Given the description of an element on the screen output the (x, y) to click on. 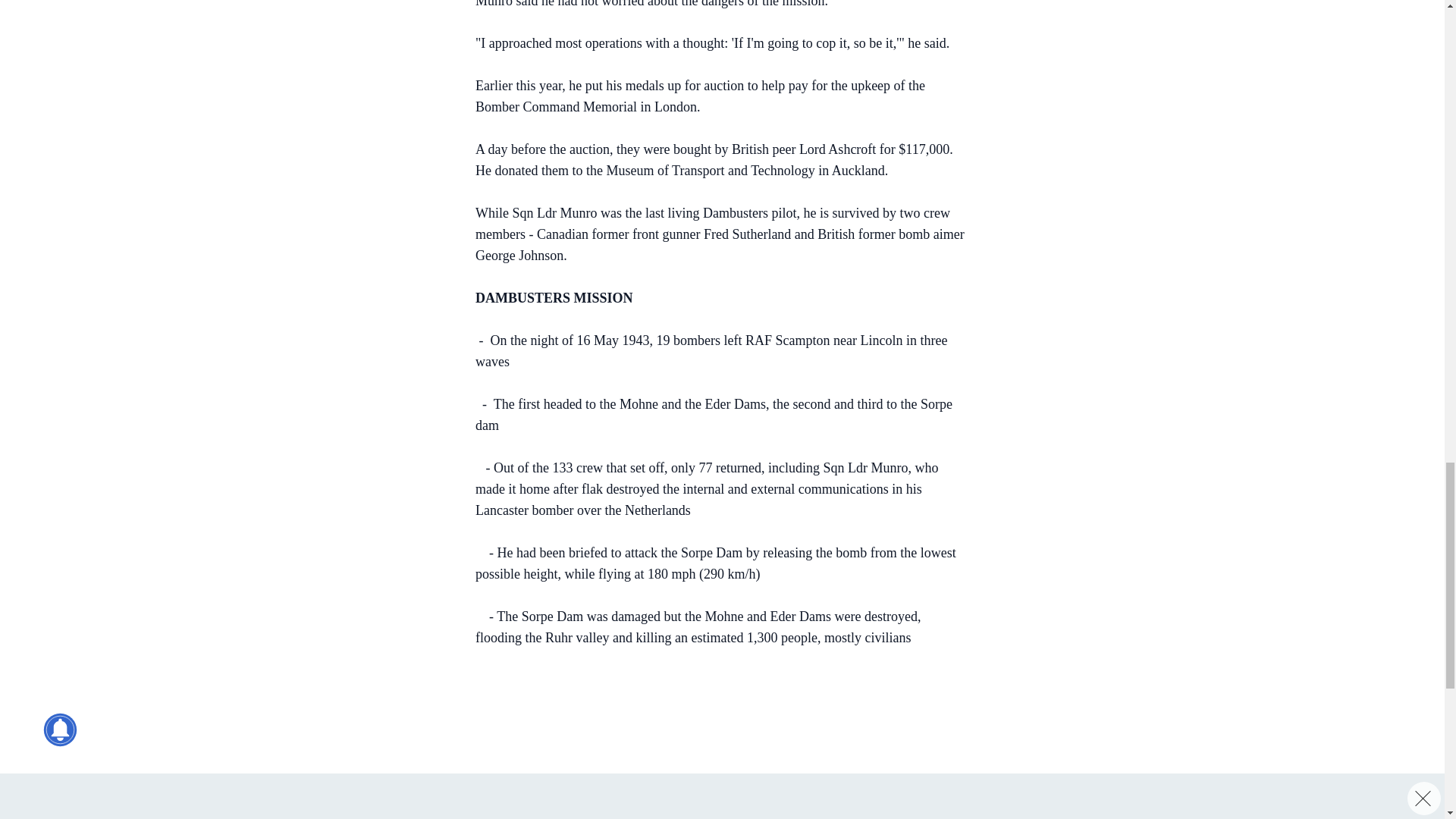
3rd party ad content (714, 741)
